Given the description of an element on the screen output the (x, y) to click on. 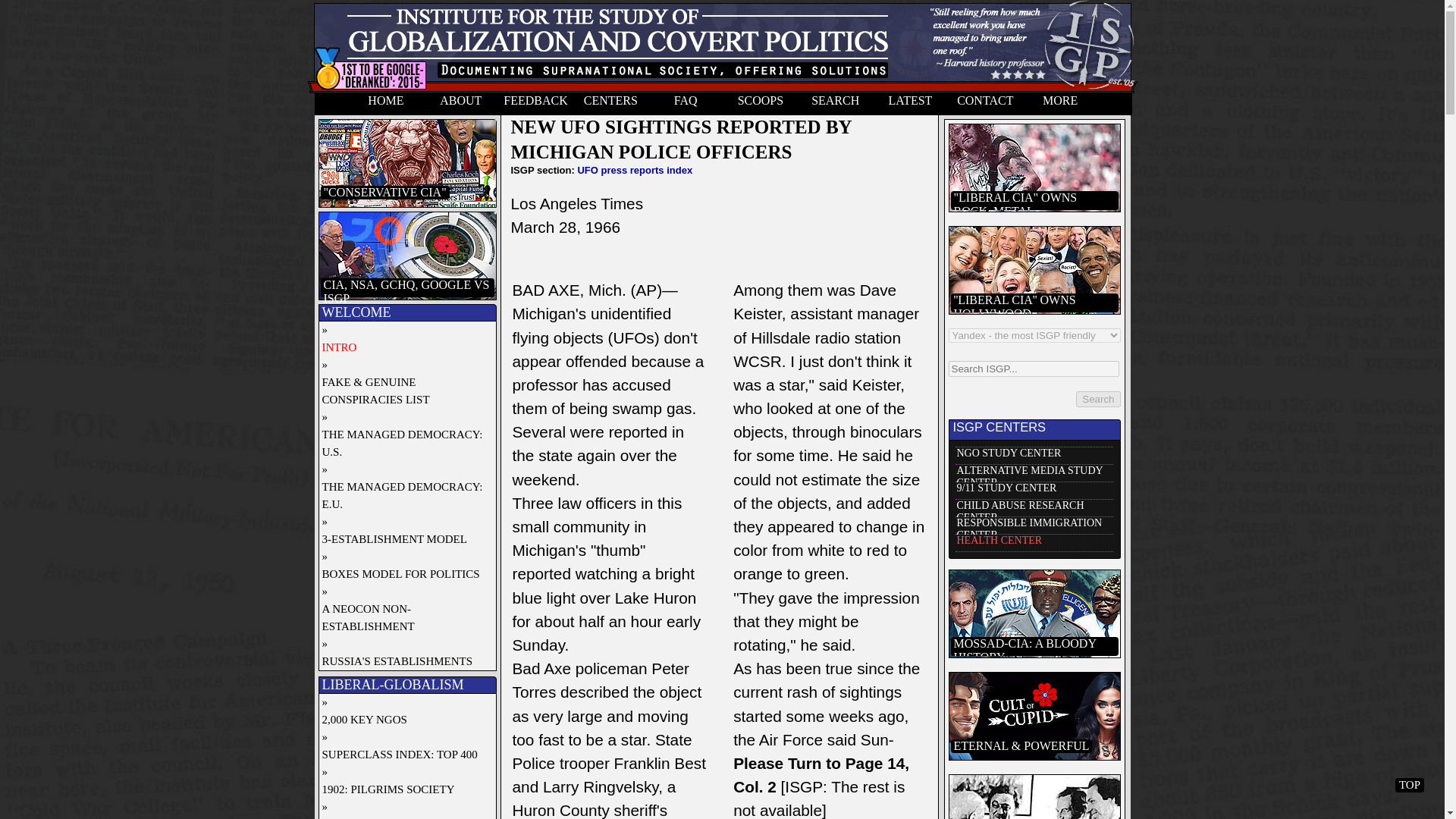
CONTACT (985, 103)
ABOUT (460, 103)
FAQ (685, 103)
LATEST (910, 103)
HOME (386, 103)
THE MANAGED DEMOCRACY: U.S. (403, 443)
SEARCH (834, 103)
CENTERS (610, 103)
2,000 KEY NGOS (403, 719)
THE MANAGED DEMOCRACY: E.U. (403, 495)
